Given the description of an element on the screen output the (x, y) to click on. 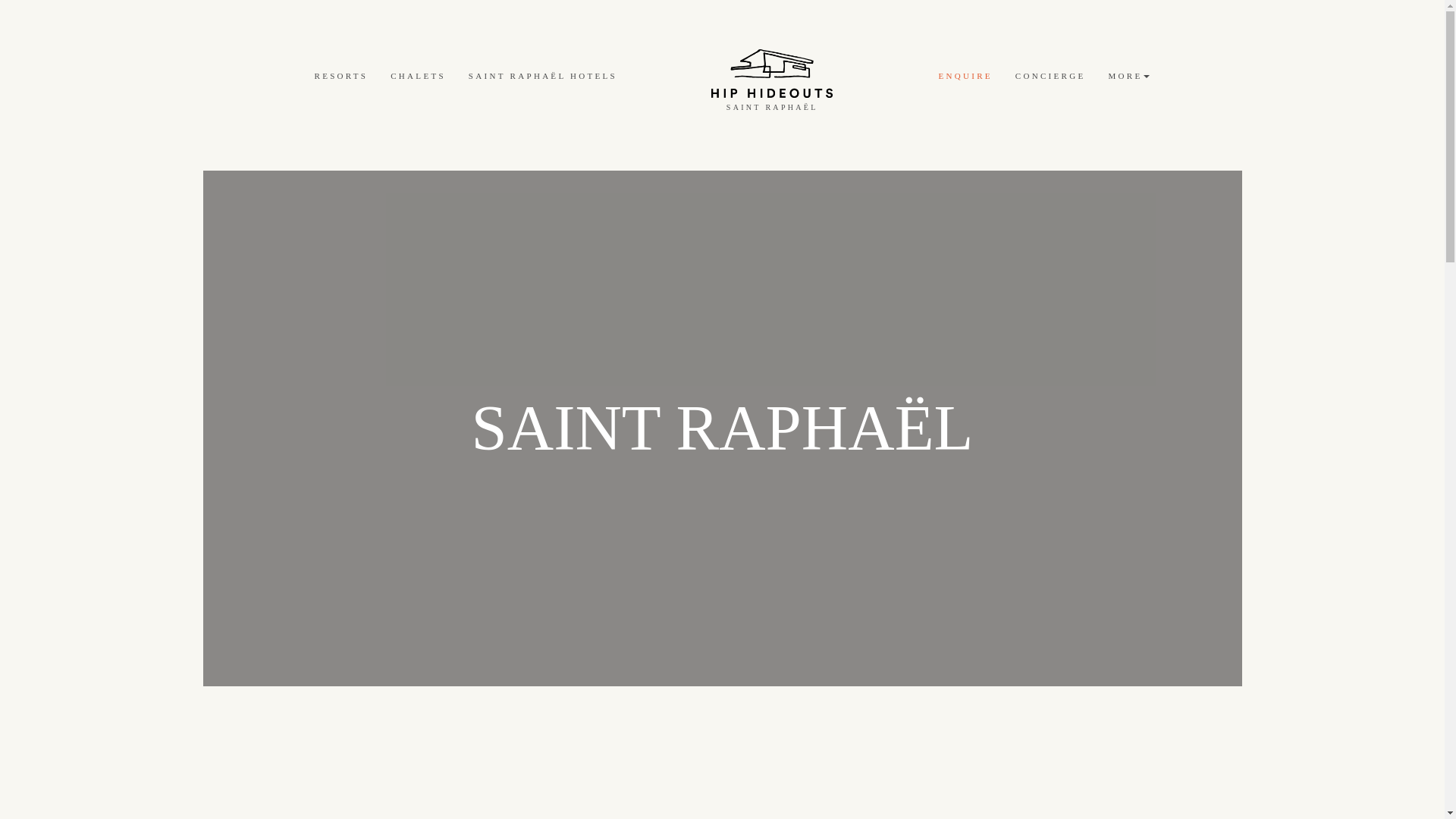
CONCIERGE (1050, 75)
CHALETS (417, 75)
ENQUIRE (964, 75)
RESORTS (341, 75)
MORE  (1131, 75)
